Given the description of an element on the screen output the (x, y) to click on. 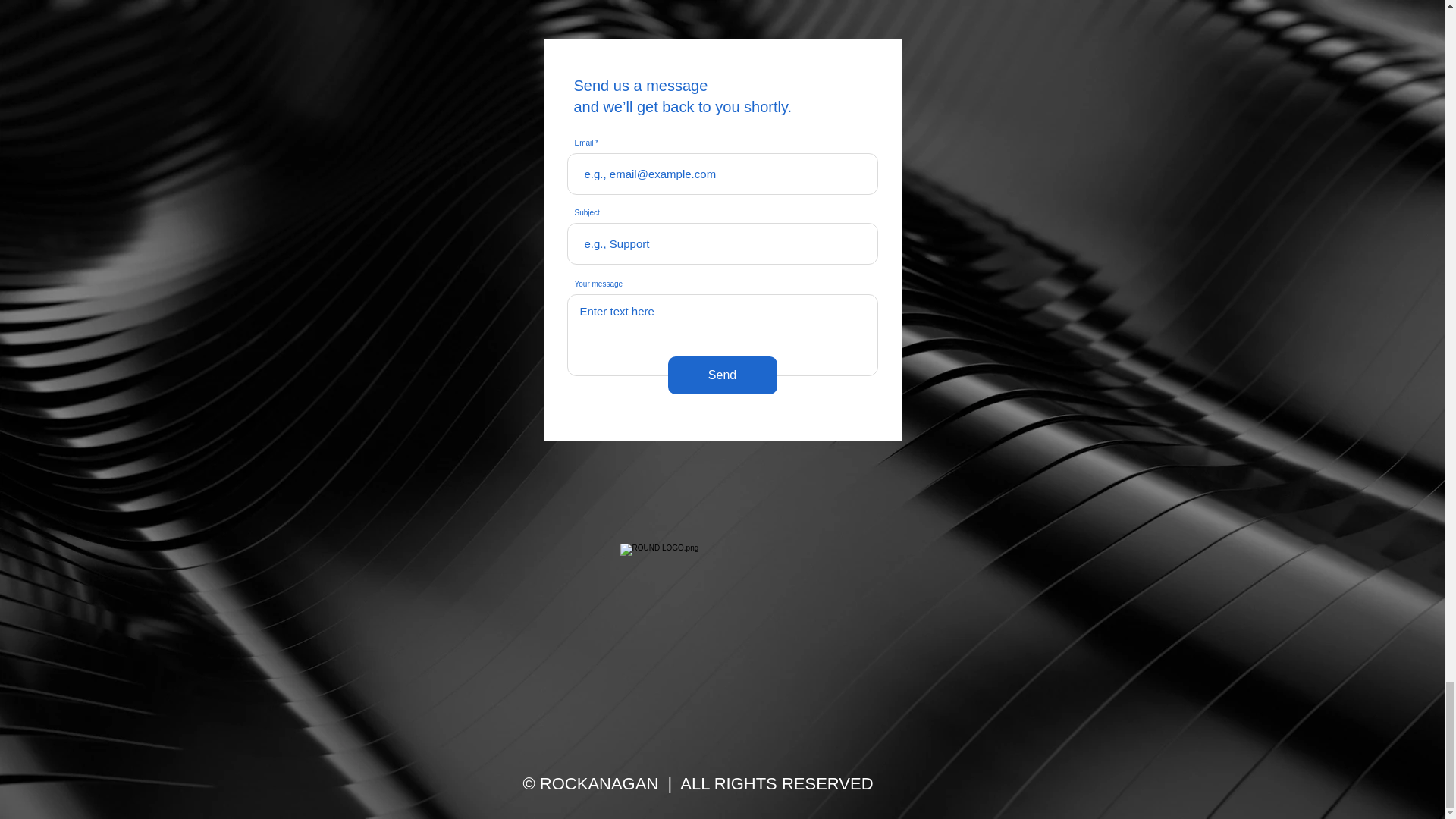
Send (721, 374)
